Given the description of an element on the screen output the (x, y) to click on. 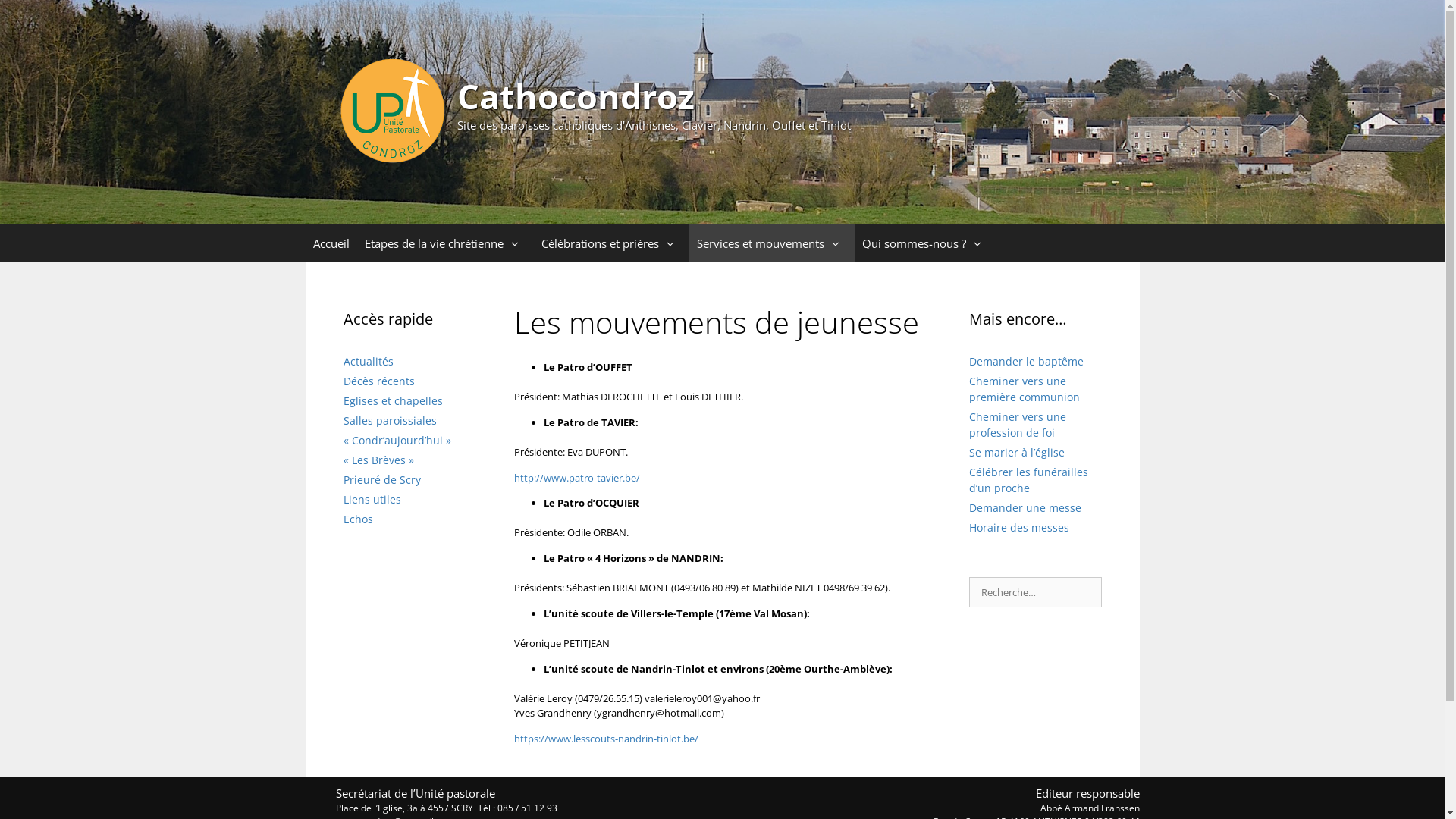
Demander une messe Element type: text (1025, 507)
Accueil Element type: text (330, 243)
Echos Element type: text (357, 518)
Qui sommes-nous ? Element type: text (924, 243)
https://www.lesscouts-nandrin-tinlot.be/ Element type: text (606, 738)
Horaire des messes Element type: text (1019, 527)
Salles paroissiales Element type: text (389, 420)
Cathocondroz Element type: hover (391, 110)
Liens utiles Element type: text (371, 499)
Services et mouvements Element type: text (770, 243)
Cheminer vers une profession de foi Element type: text (1017, 424)
Cathocondroz Element type: text (574, 95)
Eglises et chapelles Element type: text (392, 400)
http://www.patro-tavier.be/ Element type: text (577, 477)
Rechercher Element type: text (41, 15)
